Given the description of an element on the screen output the (x, y) to click on. 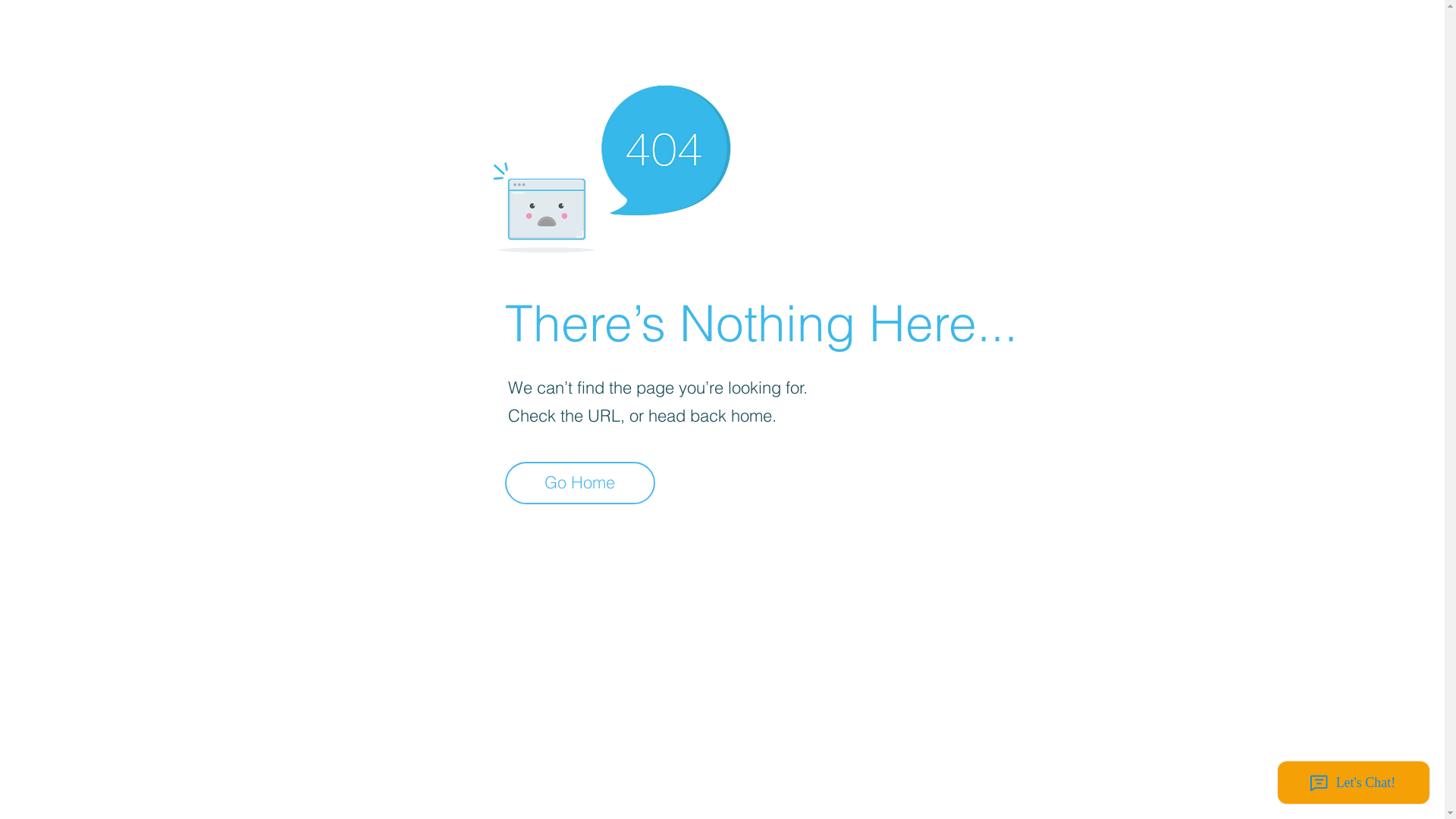
404-icon_2.png Element type: hover (610, 164)
Go Home Element type: text (580, 482)
